Given the description of an element on the screen output the (x, y) to click on. 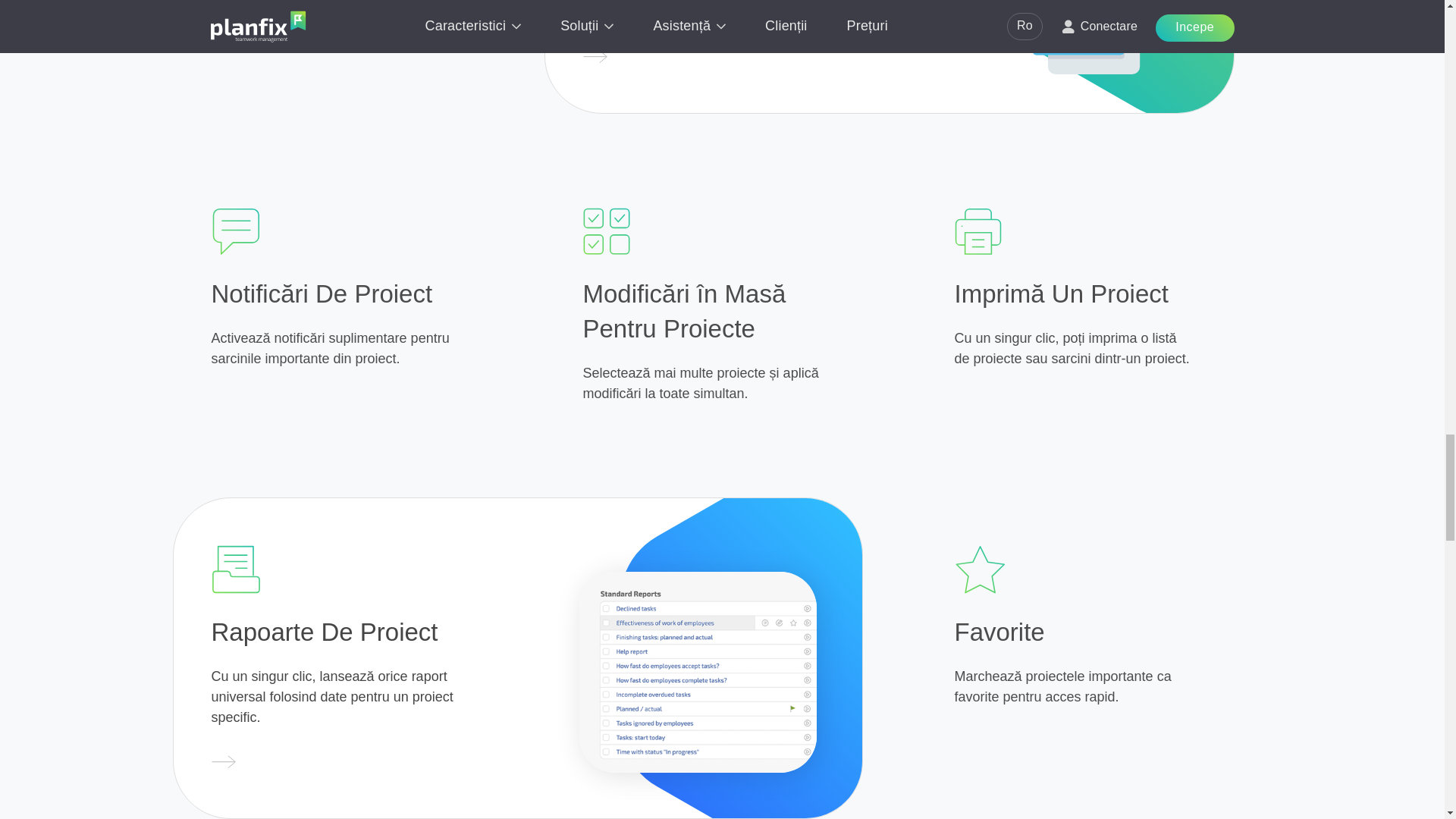
More about Rapoarte De Proiect (223, 763)
More about Documentele Proiectului (594, 57)
